Given the description of an element on the screen output the (x, y) to click on. 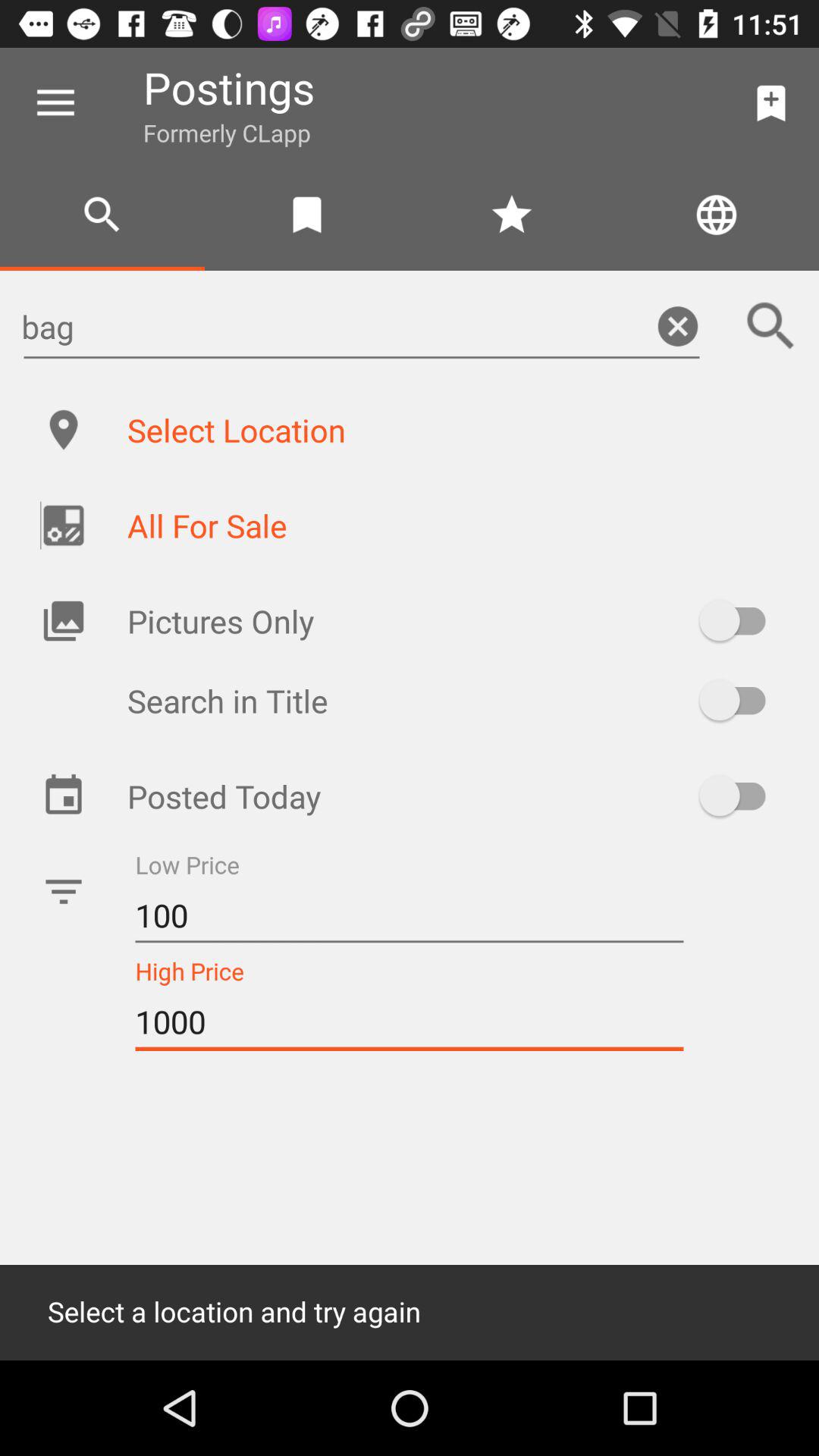
enable posted today (739, 795)
